Given the description of an element on the screen output the (x, y) to click on. 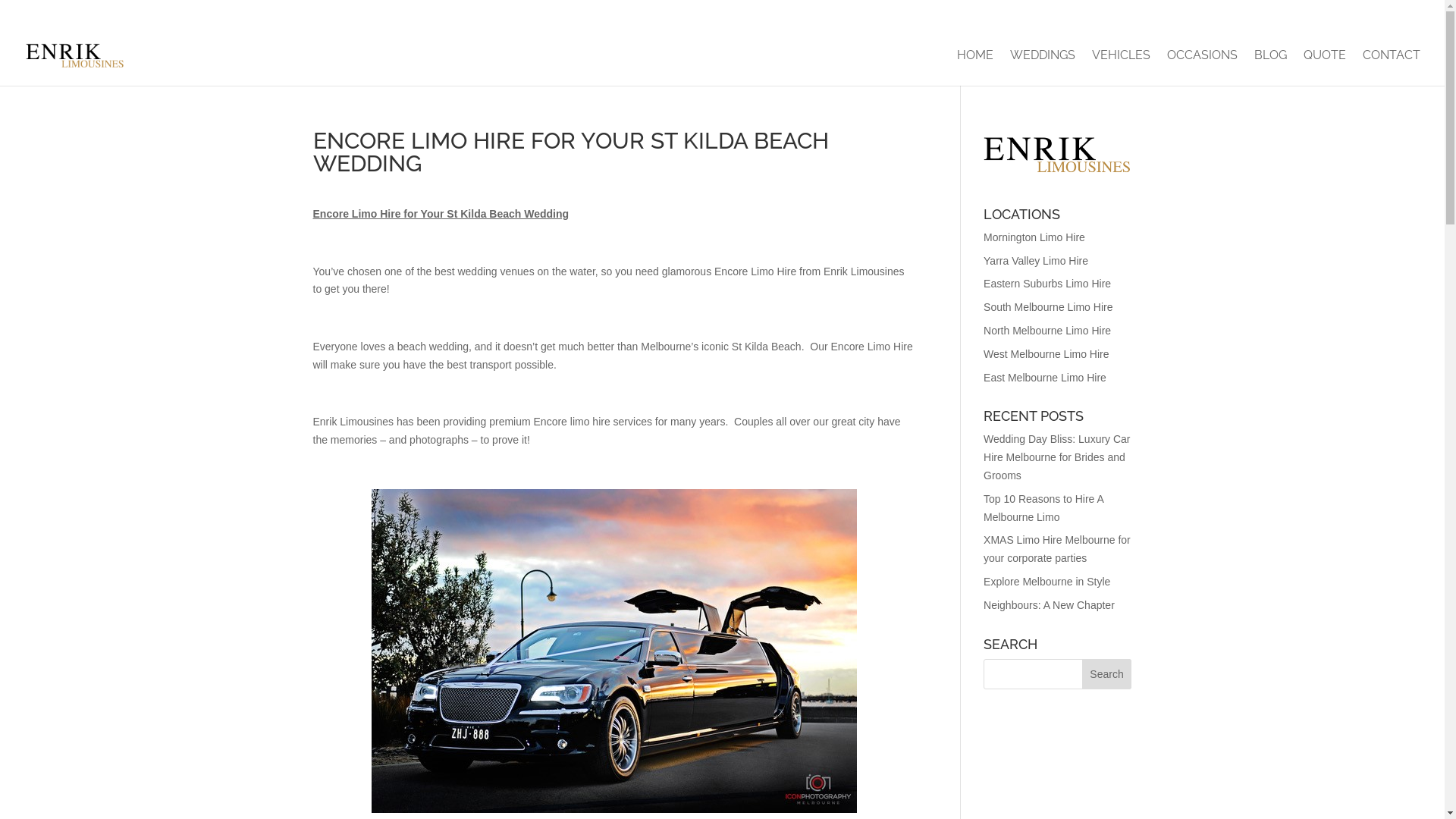
Search Element type: text (1107, 673)
HOME Element type: text (975, 67)
Yarra Valley Limo Hire Element type: text (1035, 260)
0423 555 907 Element type: text (66, 12)
CONTACT Element type: text (1391, 67)
QUOTE Element type: text (1324, 67)
Eastern Suburbs Limo Hire Element type: text (1046, 283)
BLACK CHRYSLER LIMOUSINE Element type: text (1344, 15)
DARK ANGEL BLACK LIMOUSINE Element type: text (657, 15)
MERCEDES BENZ Element type: text (981, 15)
WEDDINGS Element type: text (1042, 67)
XMAS Limo Hire Melbourne for your corporate parties Element type: text (1056, 548)
BLACK CHRYSLER 6 SEATER LIMO Element type: text (838, 15)
VEHICLES Element type: text (1121, 67)
6 SEATER LIMO Element type: text (1077, 15)
North Melbourne Limo Hire Element type: text (1046, 330)
OCCASIONS Element type: text (1202, 67)
East Melbourne Limo Hire Element type: text (1044, 377)
South Melbourne Limo Hire Element type: text (1047, 307)
Mornington Limo Hire Element type: text (1034, 237)
LUXURY PEOPLE MOVER Element type: text (1191, 15)
Neighbours: A New Chapter Element type: text (1048, 605)
BLOG Element type: text (1270, 67)
West Melbourne Limo Hire Element type: text (1045, 354)
Top 10 Reasons to Hire A Melbourne Limo Element type: text (1043, 507)
Explore Melbourne in Style Element type: text (1046, 581)
